Given the description of an element on the screen output the (x, y) to click on. 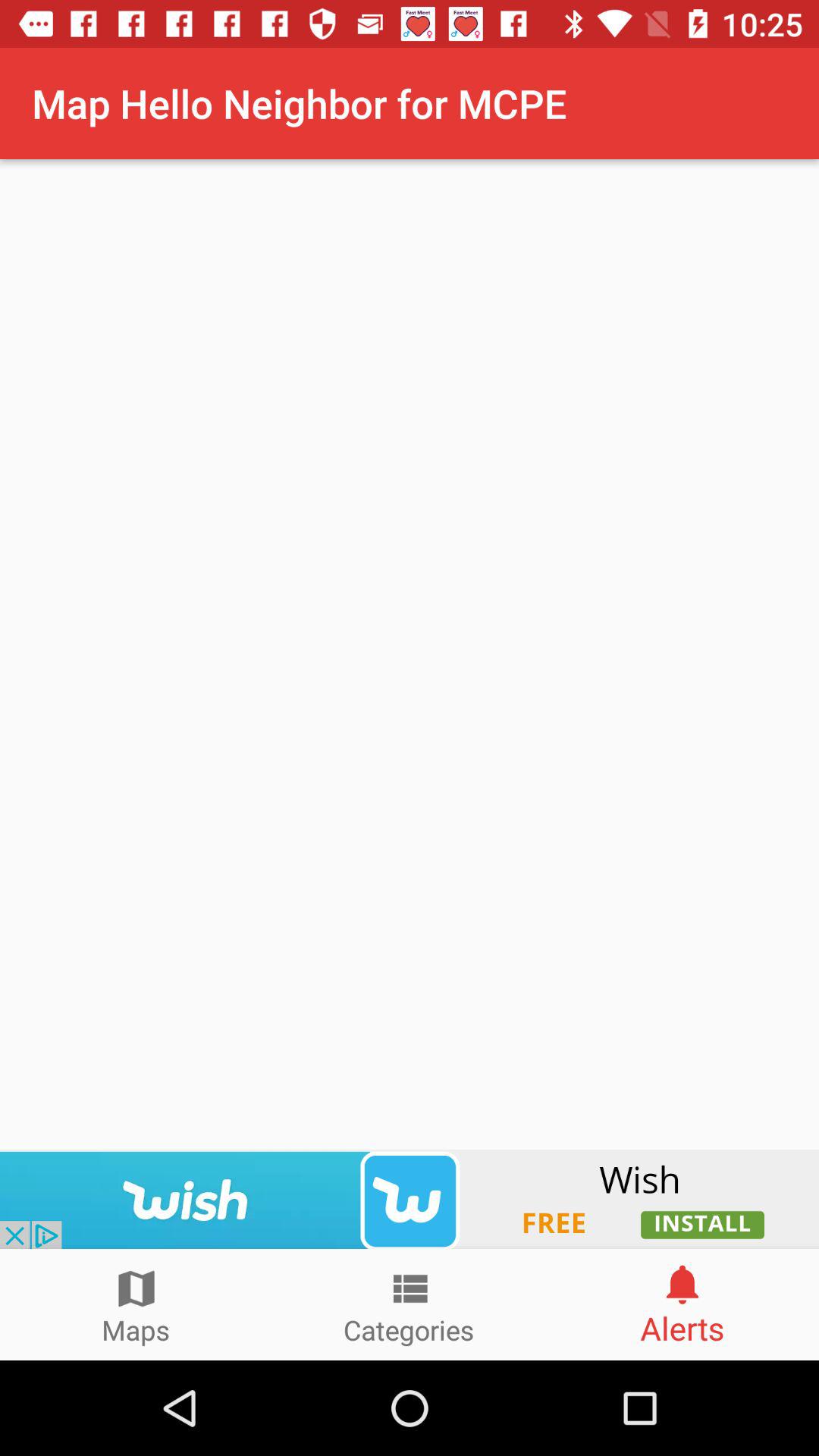
open advertisement (409, 1198)
